Given the description of an element on the screen output the (x, y) to click on. 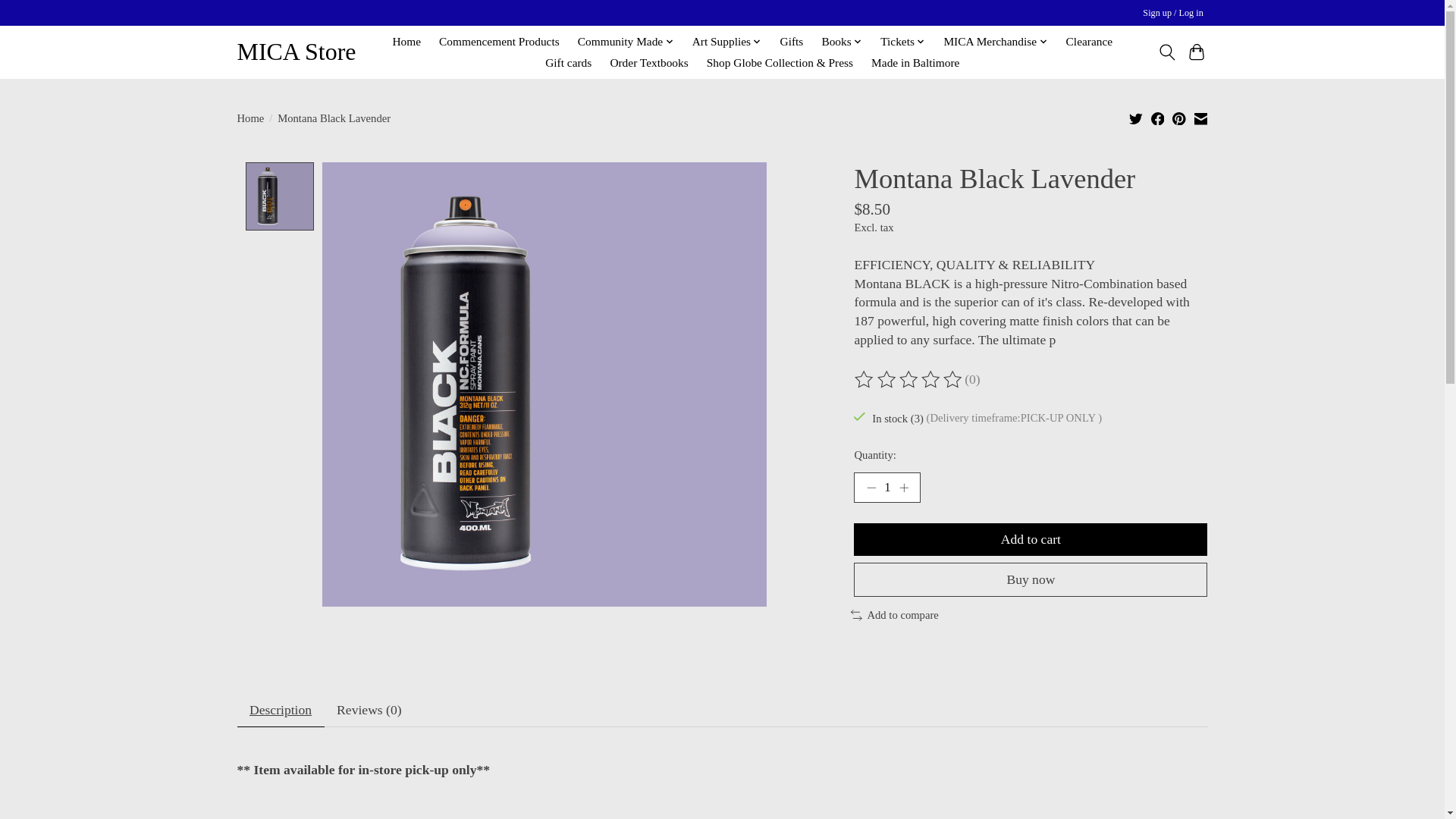
Share on Facebook (1157, 118)
Art Supplies (726, 41)
Share on Pinterest (1178, 118)
Commencement Products (498, 41)
MICA Store (295, 51)
Home (406, 41)
1 (886, 487)
Community Made (625, 41)
My account (1173, 13)
Share by Email (1200, 118)
MICA Store (295, 51)
Share on Twitter (1135, 118)
